Given the description of an element on the screen output the (x, y) to click on. 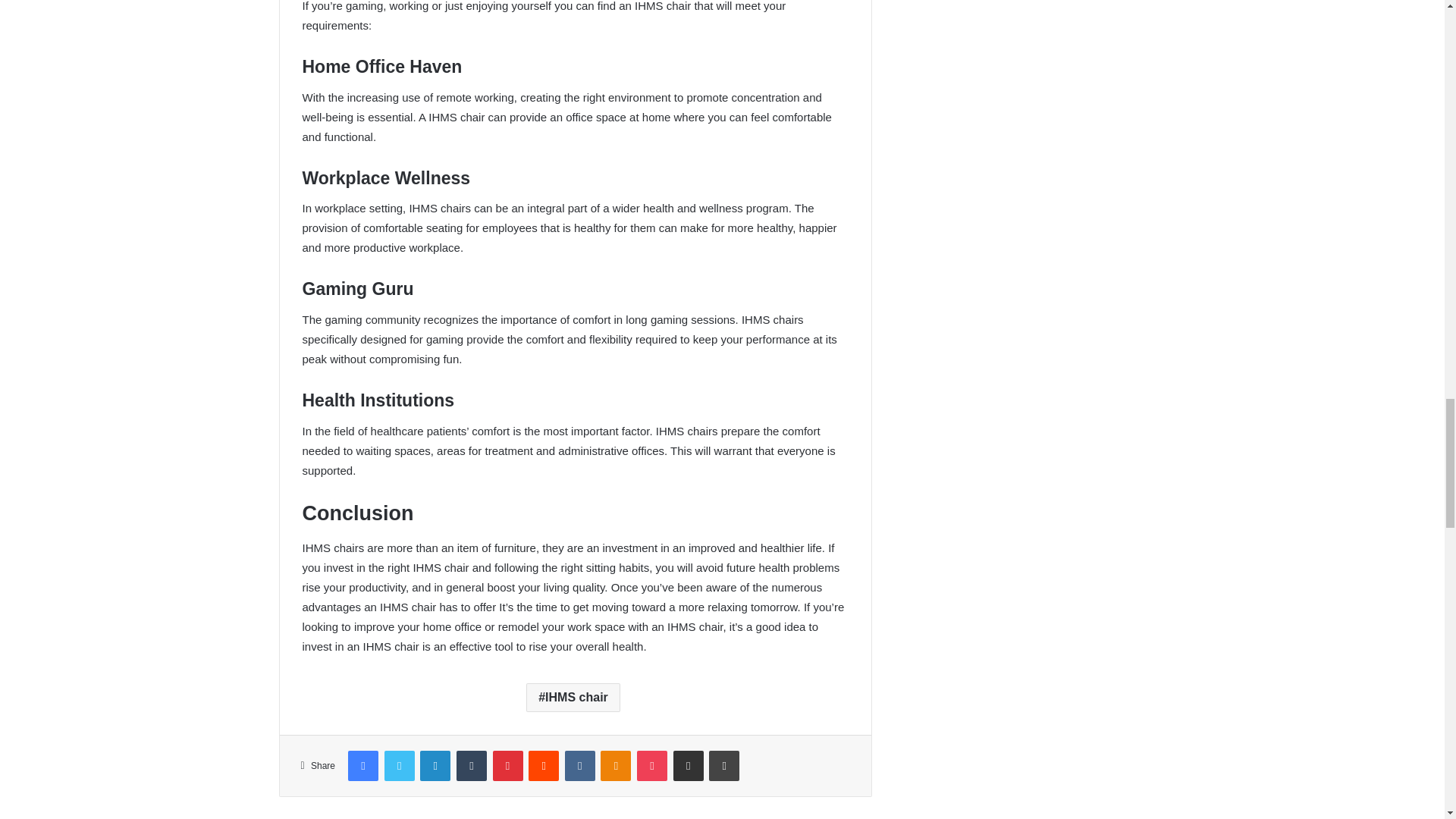
IHMS chair (572, 697)
